Given the description of an element on the screen output the (x, y) to click on. 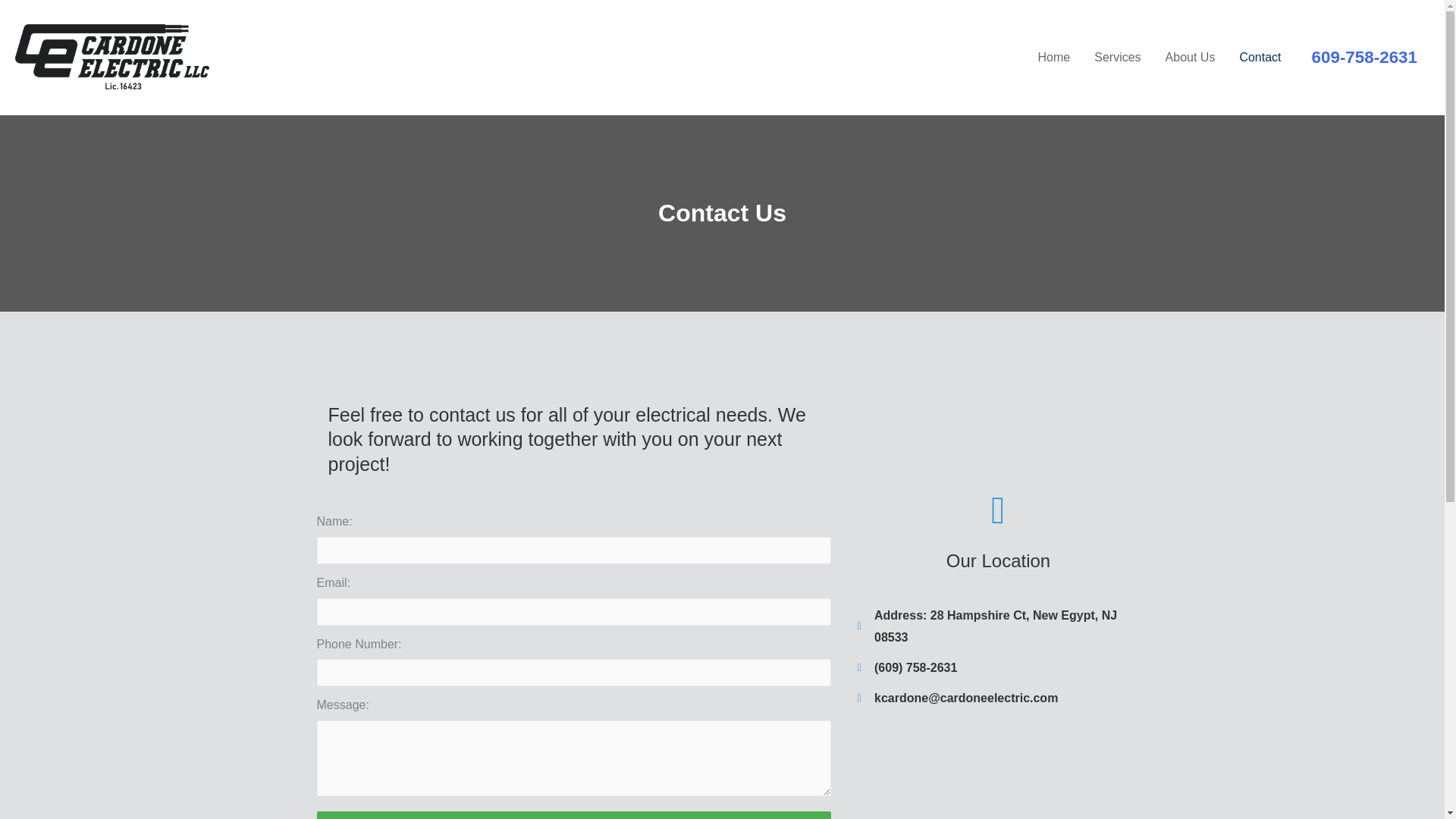
Send (574, 815)
About Us (1190, 57)
Services (1117, 57)
609-758-2631 (1363, 56)
Home (1054, 57)
Contact (1259, 57)
